Given the description of an element on the screen output the (x, y) to click on. 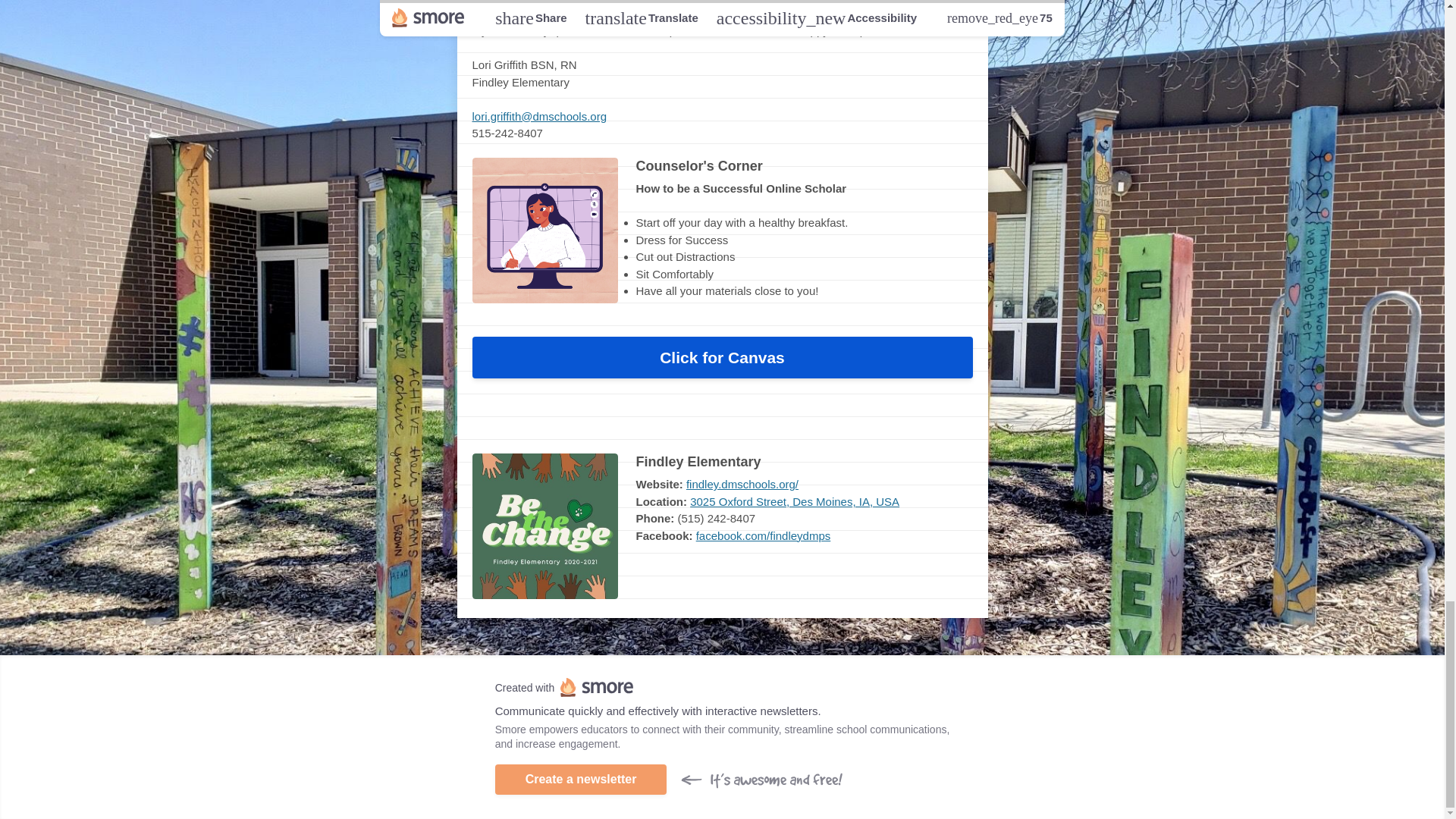
Online! (758, 422)
you (706, 422)
See (670, 422)
Click for Canvas (721, 357)
